Given the description of an element on the screen output the (x, y) to click on. 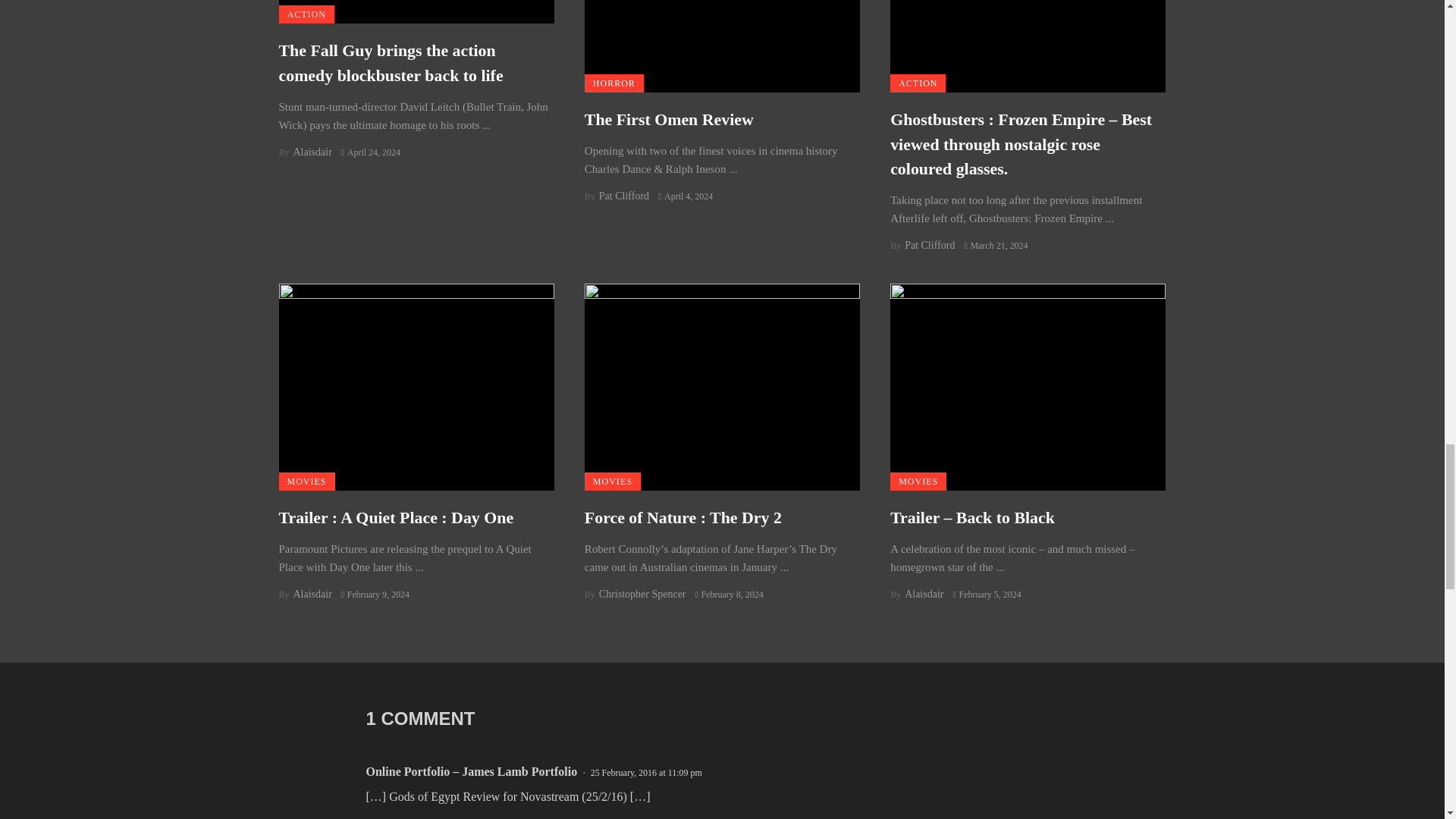
February 9, 2024 at 6:52 pm (374, 593)
April 4, 2024 at 6:47 pm (685, 195)
March 21, 2024 at 10:03 pm (995, 245)
April 24, 2024 at 9:04 am (370, 152)
